Given the description of an element on the screen output the (x, y) to click on. 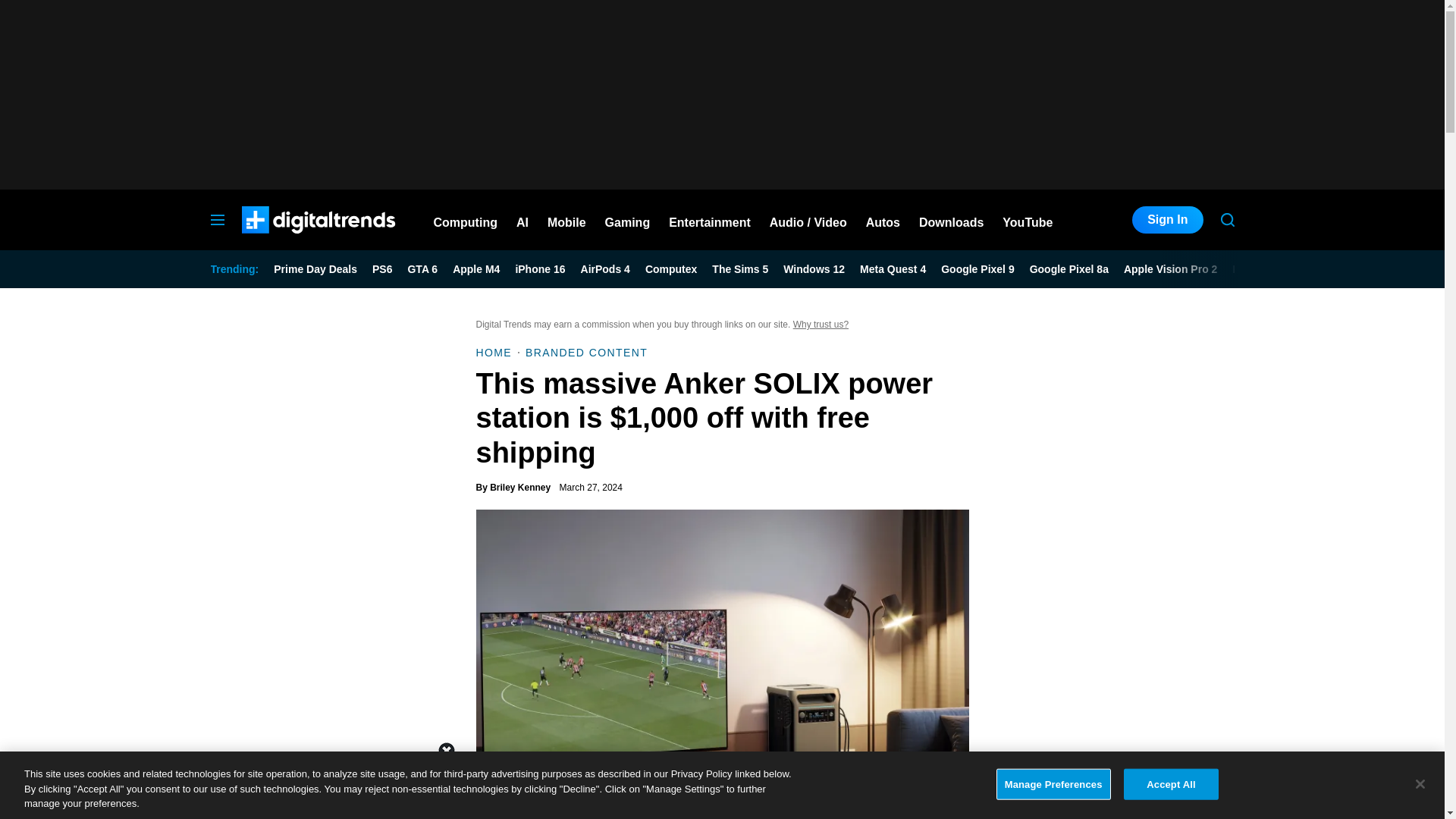
Downloads (951, 219)
Sign In (1167, 219)
Computing (465, 219)
3rd party ad content (721, 785)
Entertainment (709, 219)
3rd party ad content (721, 94)
